Given the description of an element on the screen output the (x, y) to click on. 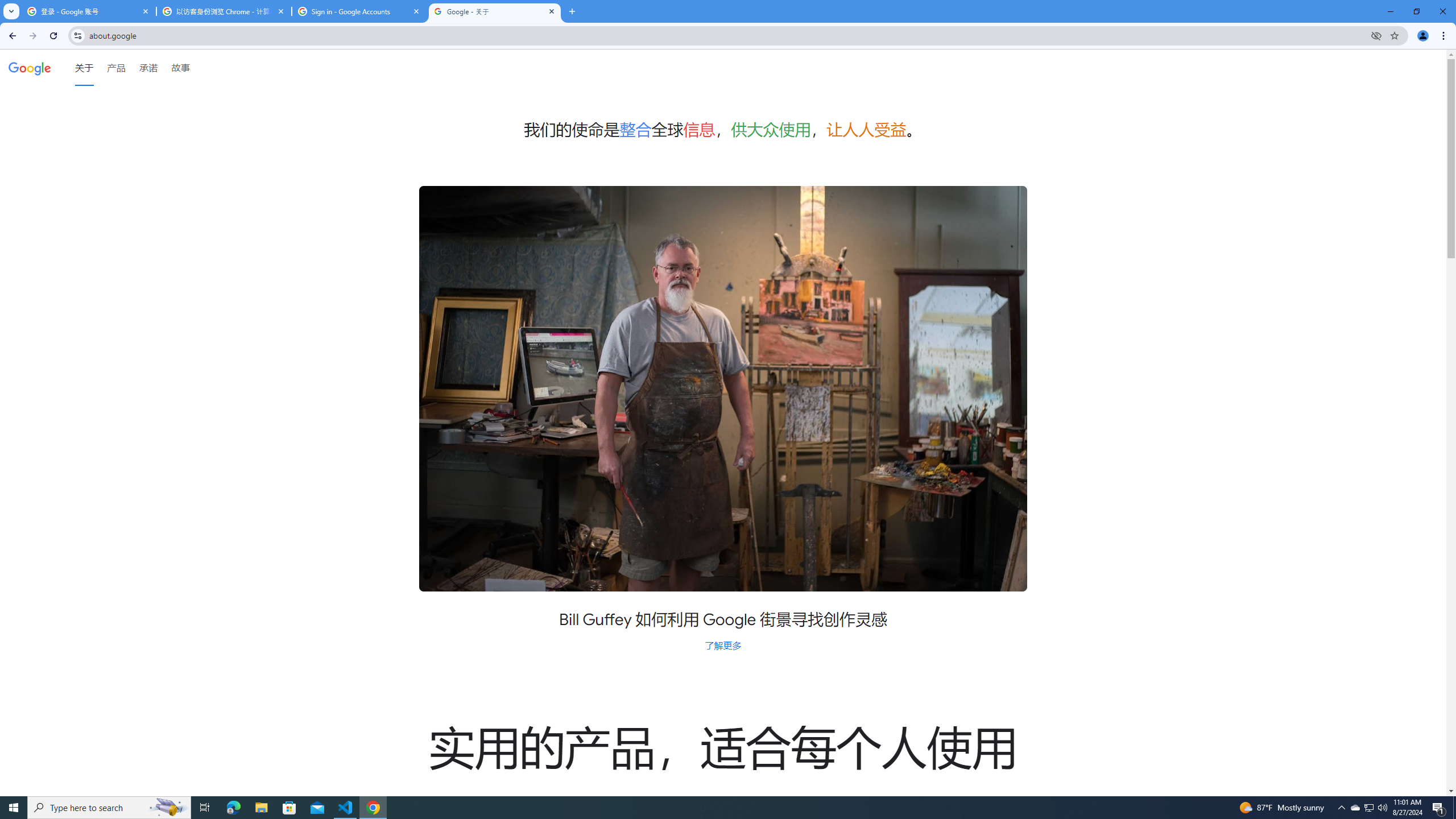
Sign in - Google Accounts (359, 11)
Third-party cookies blocked (1376, 35)
